Given the description of an element on the screen output the (x, y) to click on. 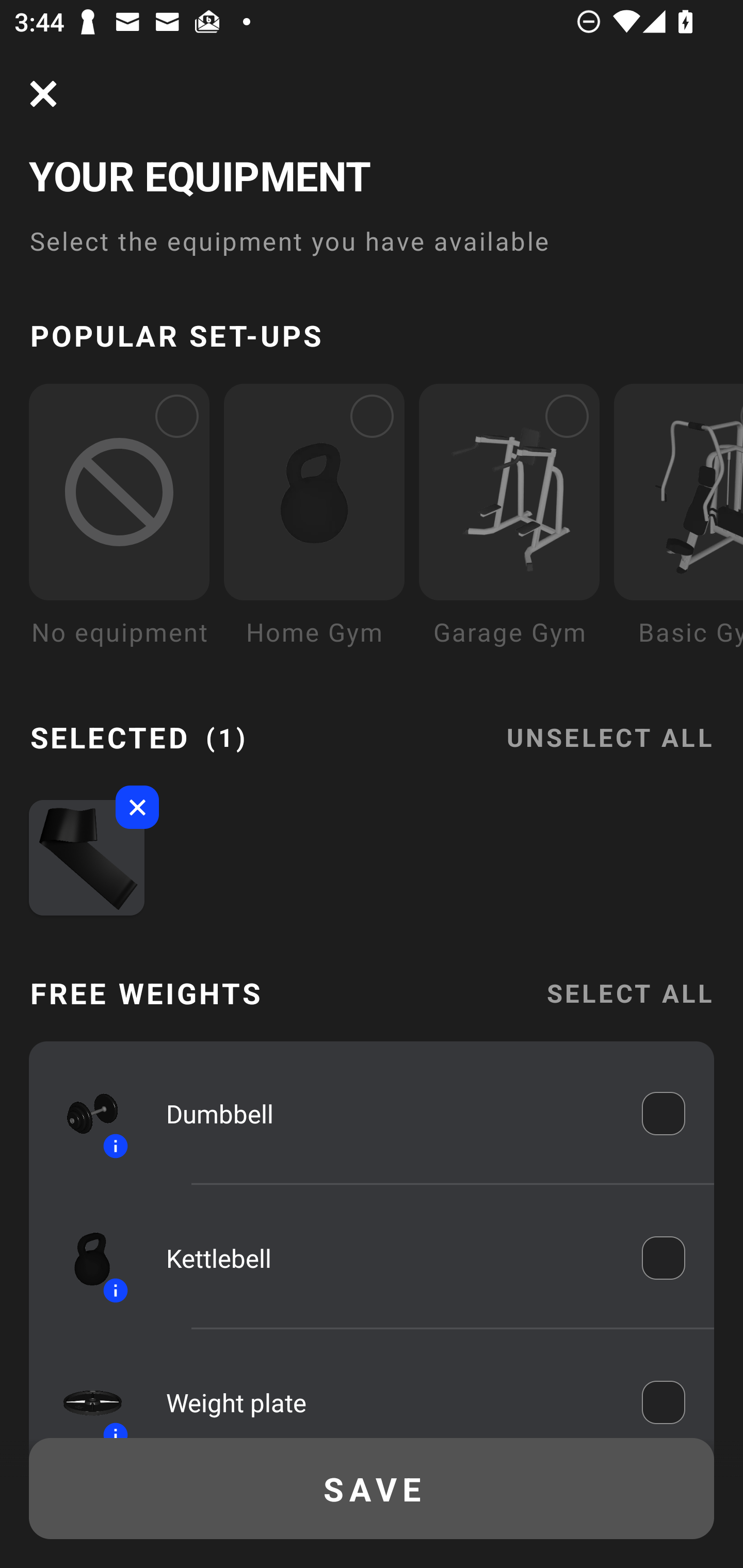
Navigation icon (43, 93)
UNSELECT ALL (609, 725)
SELECT ALL (629, 993)
Equipment icon Information icon (82, 1113)
Dumbbell (389, 1113)
Equipment icon Information icon (82, 1258)
Kettlebell (389, 1258)
Equipment icon Information icon (82, 1392)
Weight plate (389, 1398)
SAVE (371, 1488)
